Given the description of an element on the screen output the (x, y) to click on. 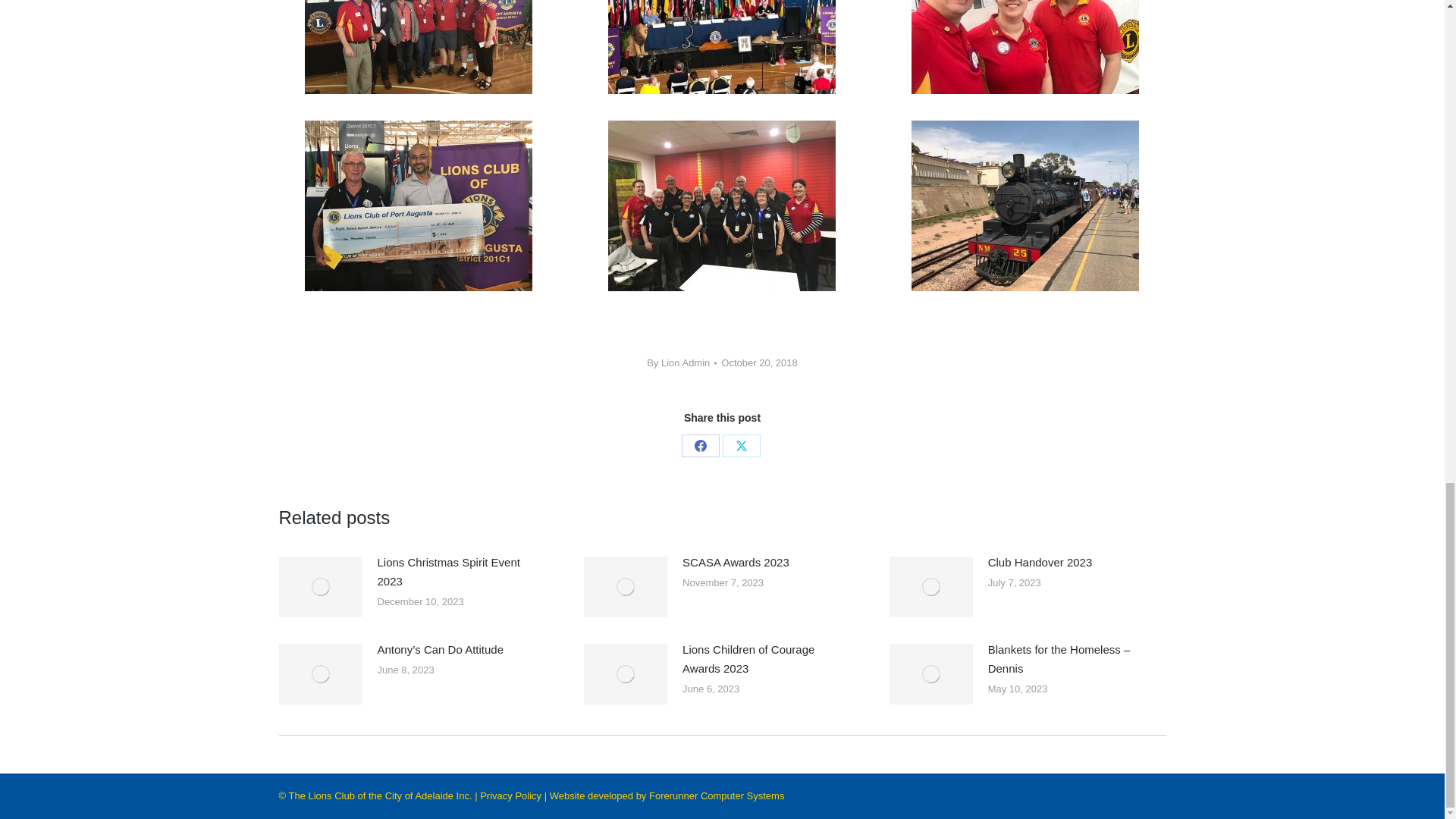
city of adelaide lions group (418, 47)
convention-hall (721, 47)
View all posts by Lion Admin (681, 363)
X (741, 445)
1:39 pm (758, 363)
Accepting a cheque from Port Augusta Lions (418, 205)
Facebook (700, 445)
Pichi Richi Train (1024, 205)
